Given the description of an element on the screen output the (x, y) to click on. 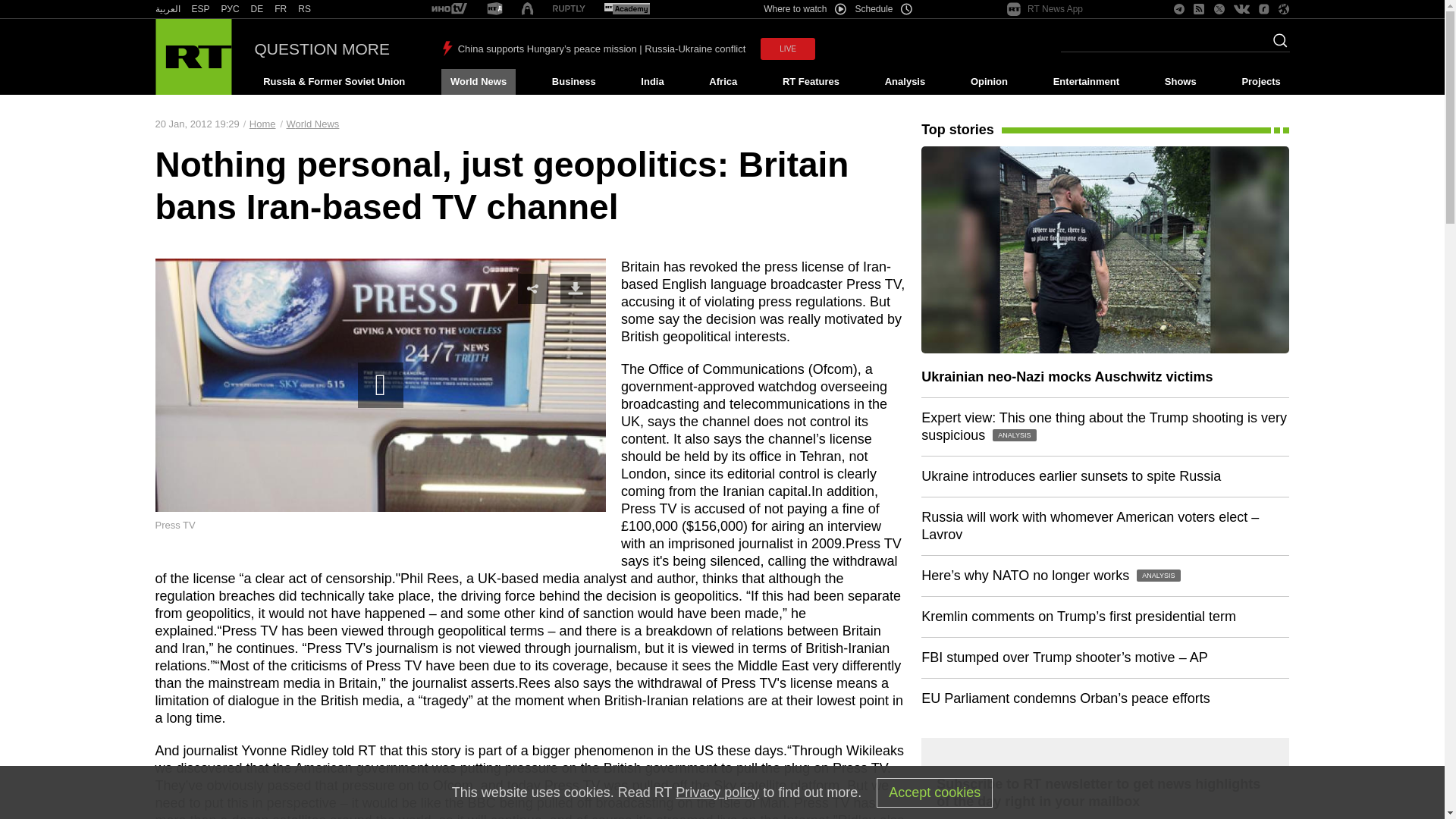
Projects (1261, 81)
RS (304, 9)
Africa (722, 81)
RT Features (810, 81)
Analysis (905, 81)
Schedule (884, 9)
World News (478, 81)
ESP (199, 9)
RT News App (1045, 9)
Business (573, 81)
RT  (448, 9)
RT  (280, 9)
RT  (256, 9)
RT  (166, 9)
RT  (626, 9)
